Given the description of an element on the screen output the (x, y) to click on. 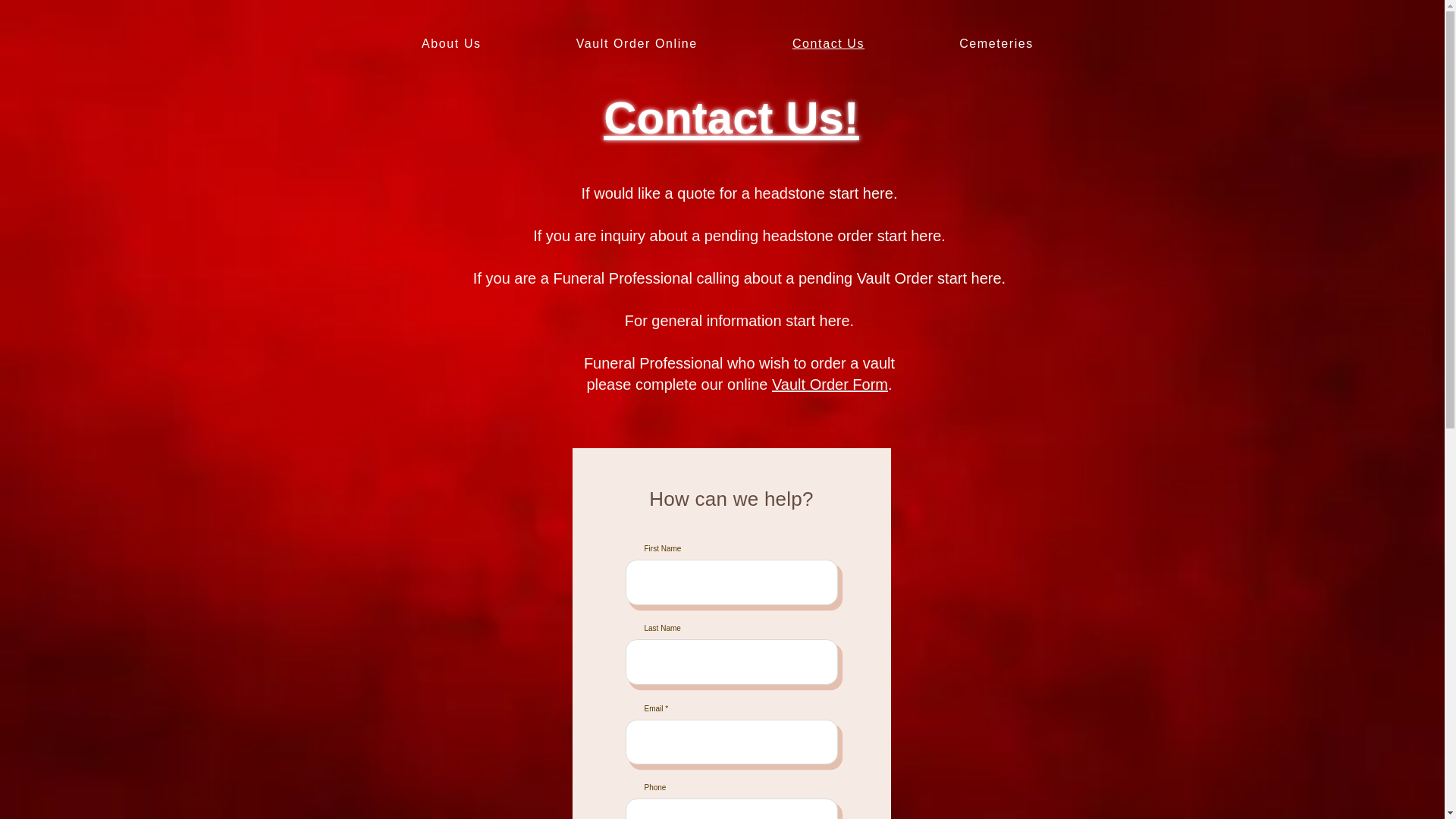
Contact Us (828, 43)
Cemeteries (996, 43)
Vault Order Online (636, 43)
Vault Order Form (829, 384)
About Us (451, 43)
